Given the description of an element on the screen output the (x, y) to click on. 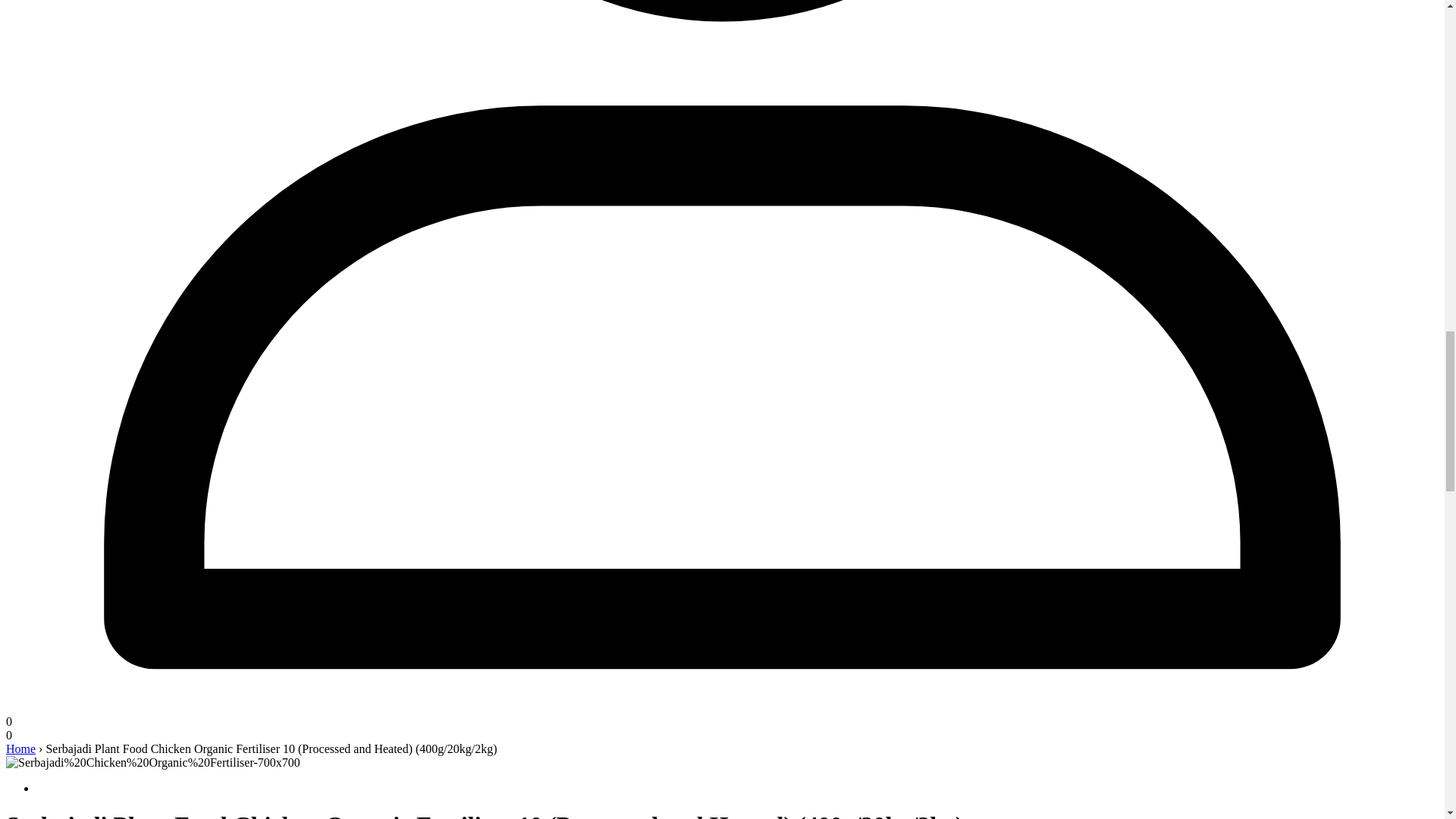
Back to the homepage (19, 748)
